Given the description of an element on the screen output the (x, y) to click on. 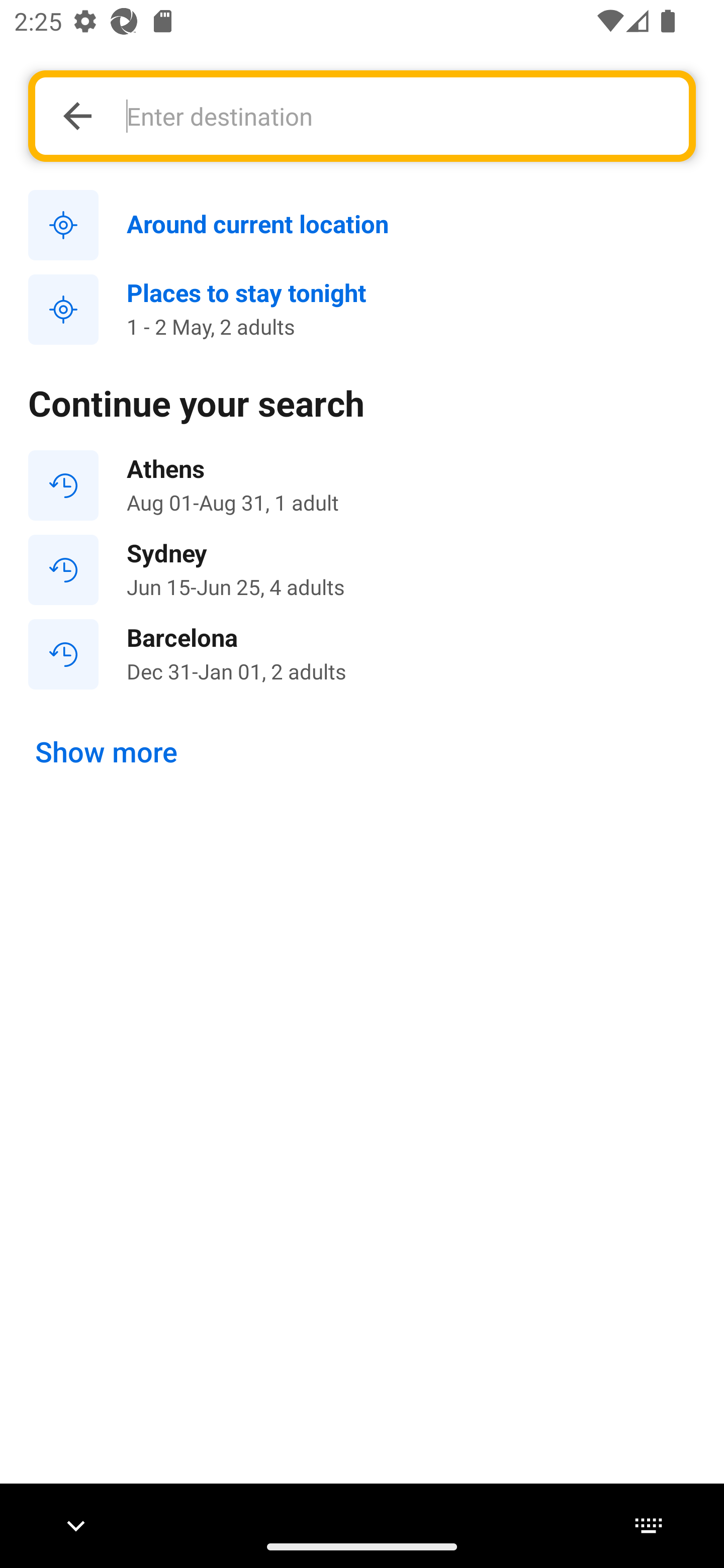
Enter destination (396, 115)
Around current location (362, 225)
Places to stay tonight 1 - 2 May, 2 adults (362, 309)
Athens Aug 01-Aug 31, 1 adult  (362, 485)
Sydney Jun 15-Jun 25, 4 adults  (362, 569)
Barcelona Dec 31-Jan 01, 2 adults  (362, 653)
Show more (106, 752)
